Given the description of an element on the screen output the (x, y) to click on. 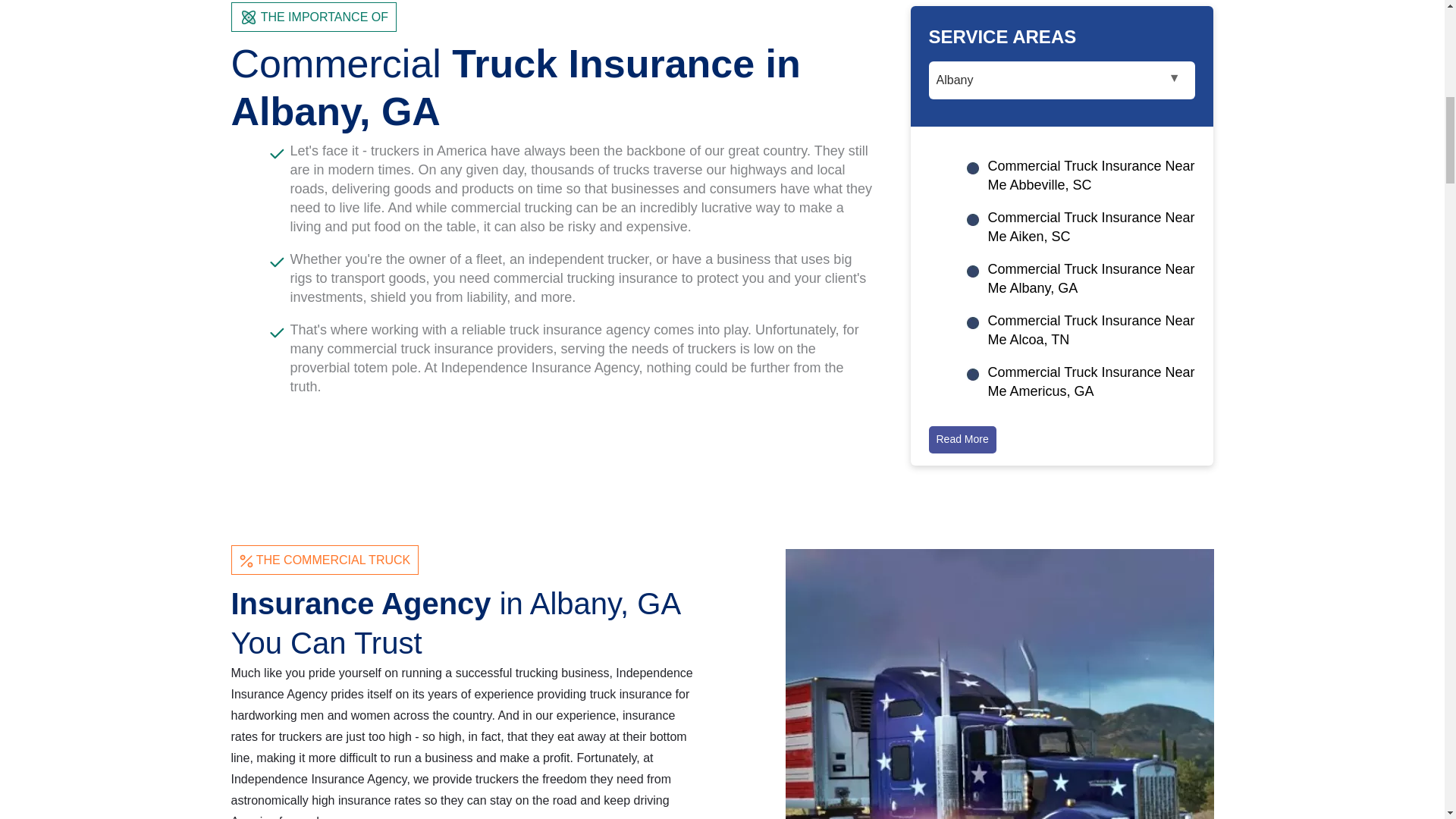
Commercial Truck Insurance Near Me Albany, GA (1090, 281)
Commercial Truck Insurance Near Me Alcoa, TN (1090, 332)
Commercial Truck Insurance Near Me Aiken, SC (1090, 229)
Commercial Truck Insurance Near Me Aiken, SC (1090, 229)
Commercial Truck Insurance Near Me Albany, GA (1090, 281)
Commercial Truck Insurance Near Me Alcoa, TN (1090, 332)
Commercial Truck Insurance Near Me Abbeville, SC (1090, 178)
Commercial Truck Insurance Near Me Americus, GA (1090, 384)
Commercial Truck Insurance Near Me Americus, GA (1090, 384)
Commercial Truck Insurance Near Me Abbeville, SC (1090, 178)
